Given the description of an element on the screen output the (x, y) to click on. 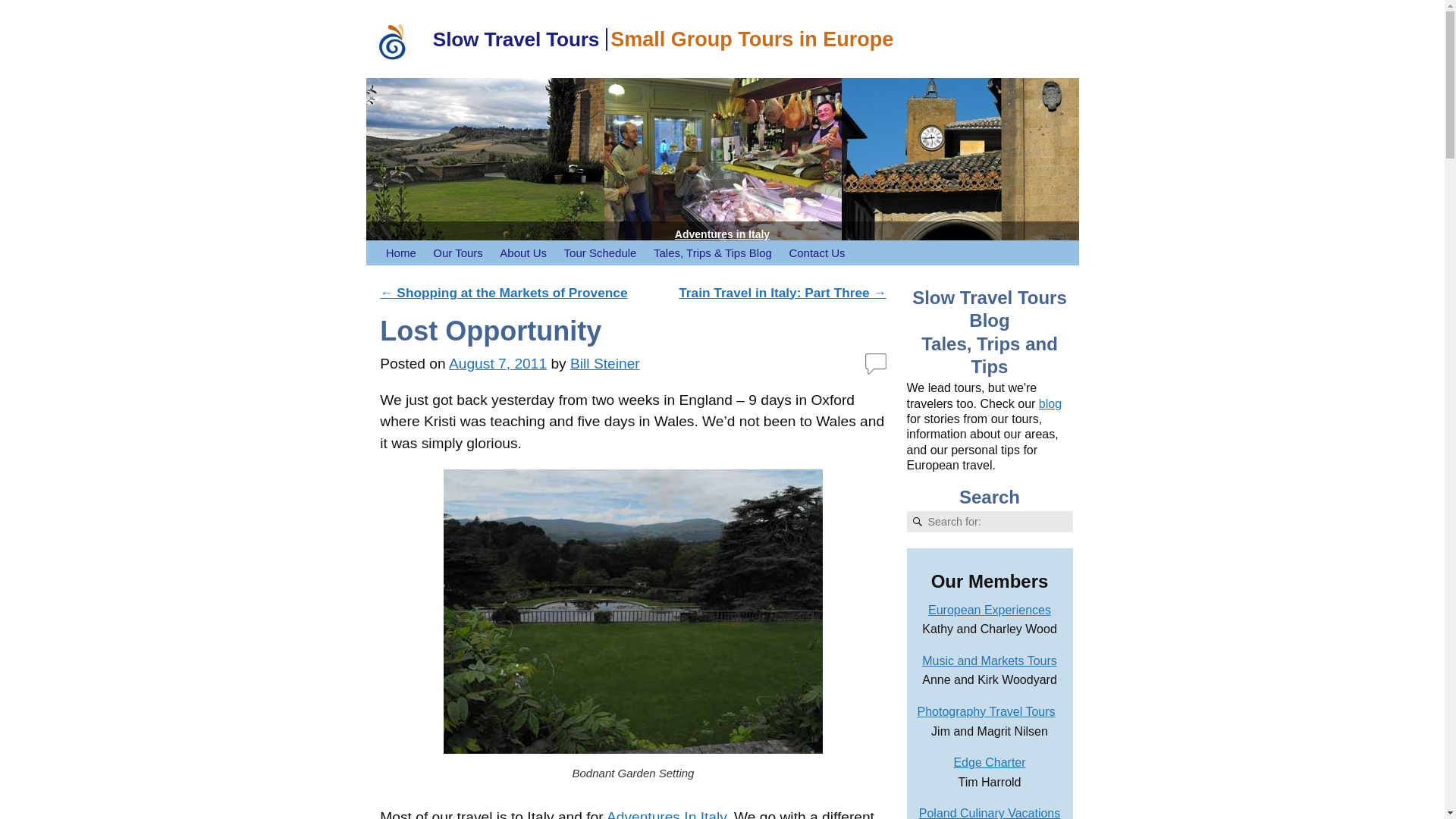
blog (1050, 403)
Adventures in Italy (721, 167)
Slow Travel Tours (515, 38)
8:16 am (497, 363)
August 7, 2011 (497, 363)
View all posts by Bill Steiner (605, 363)
Our Tours (458, 252)
About Us (523, 252)
BodnantDSCF0232 (633, 611)
Adventures in Italy (722, 234)
